Given the description of an element on the screen output the (x, y) to click on. 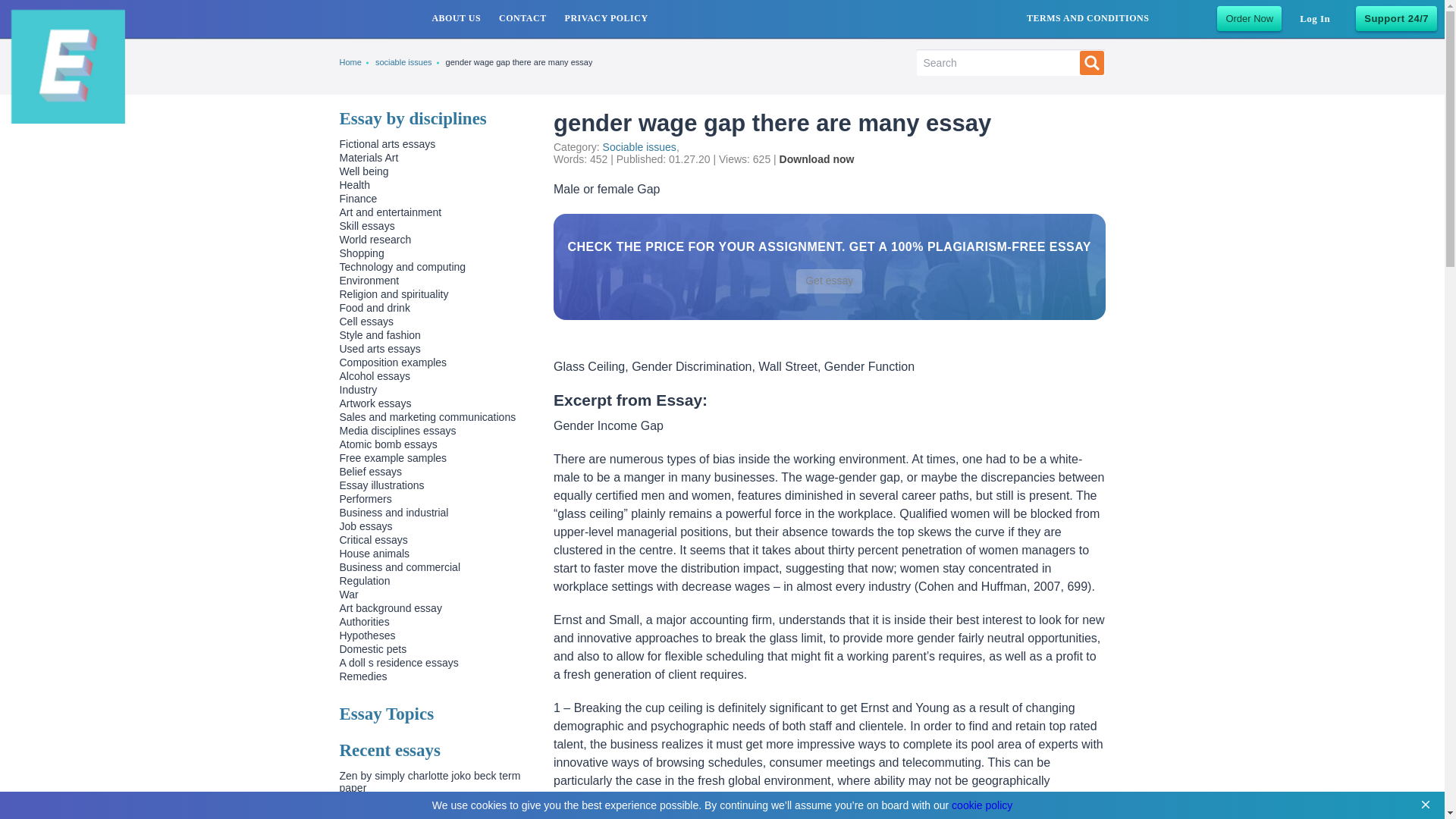
Belief essays (370, 471)
Free example samples (392, 458)
Fictional arts essays (387, 143)
Media disciplines essays (398, 430)
Materials Art (368, 157)
sociable issues (403, 62)
Style and fashion (379, 335)
Sales and marketing communications (427, 417)
Environment (368, 280)
World research (375, 239)
Log In (1315, 18)
ABOUT US (455, 18)
Skill essays (366, 225)
Atomic bomb essays (388, 444)
Composition examples (392, 362)
